Given the description of an element on the screen output the (x, y) to click on. 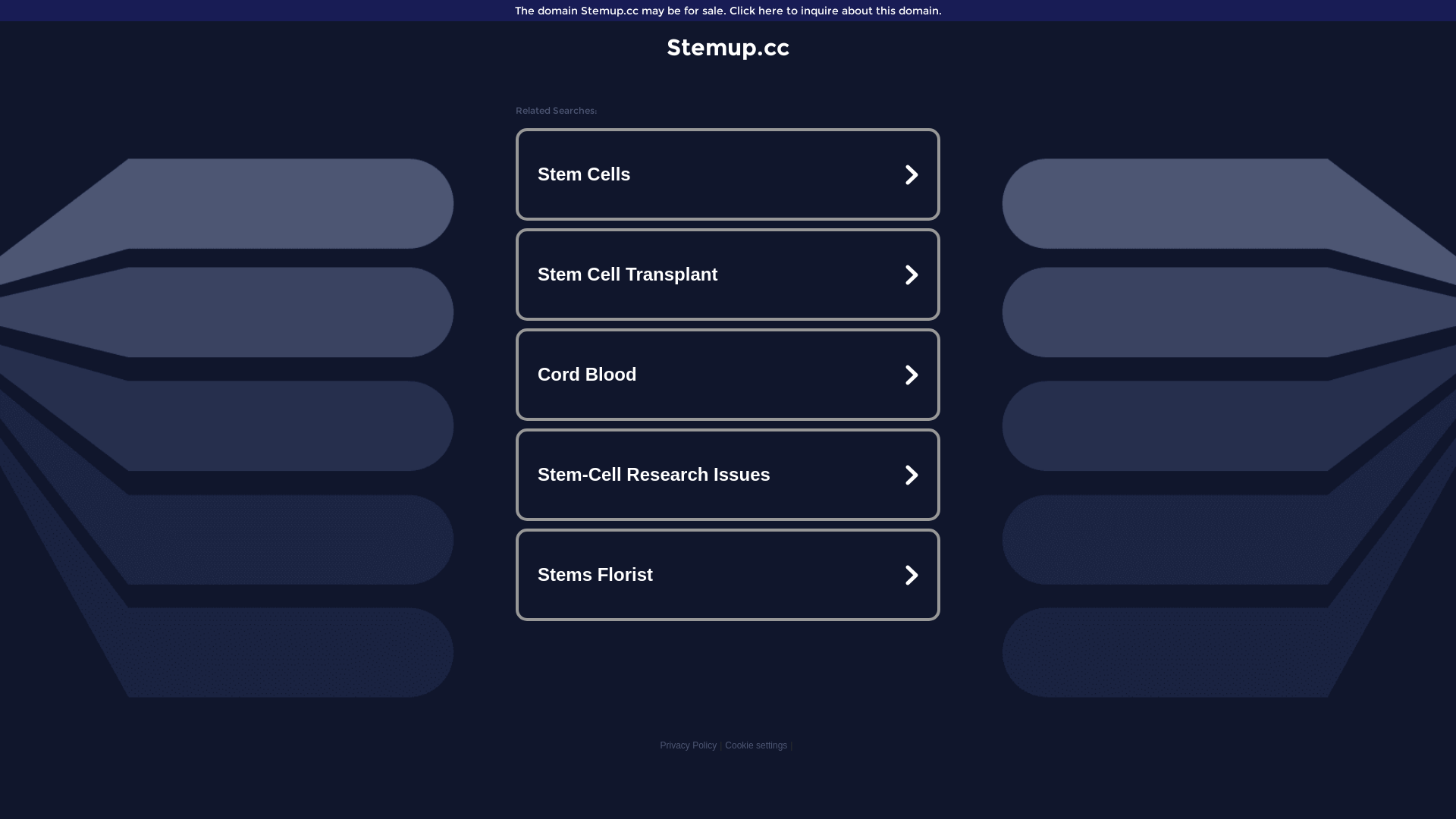
Stems Florist Element type: text (727, 574)
Stem-Cell Research Issues Element type: text (727, 474)
Stemup.cc Element type: text (727, 47)
Privacy Policy Element type: text (687, 745)
Cookie settings Element type: text (755, 745)
Stem Cell Transplant Element type: text (727, 274)
Stem Cells Element type: text (727, 174)
Cord Blood Element type: text (727, 374)
